Given the description of an element on the screen output the (x, y) to click on. 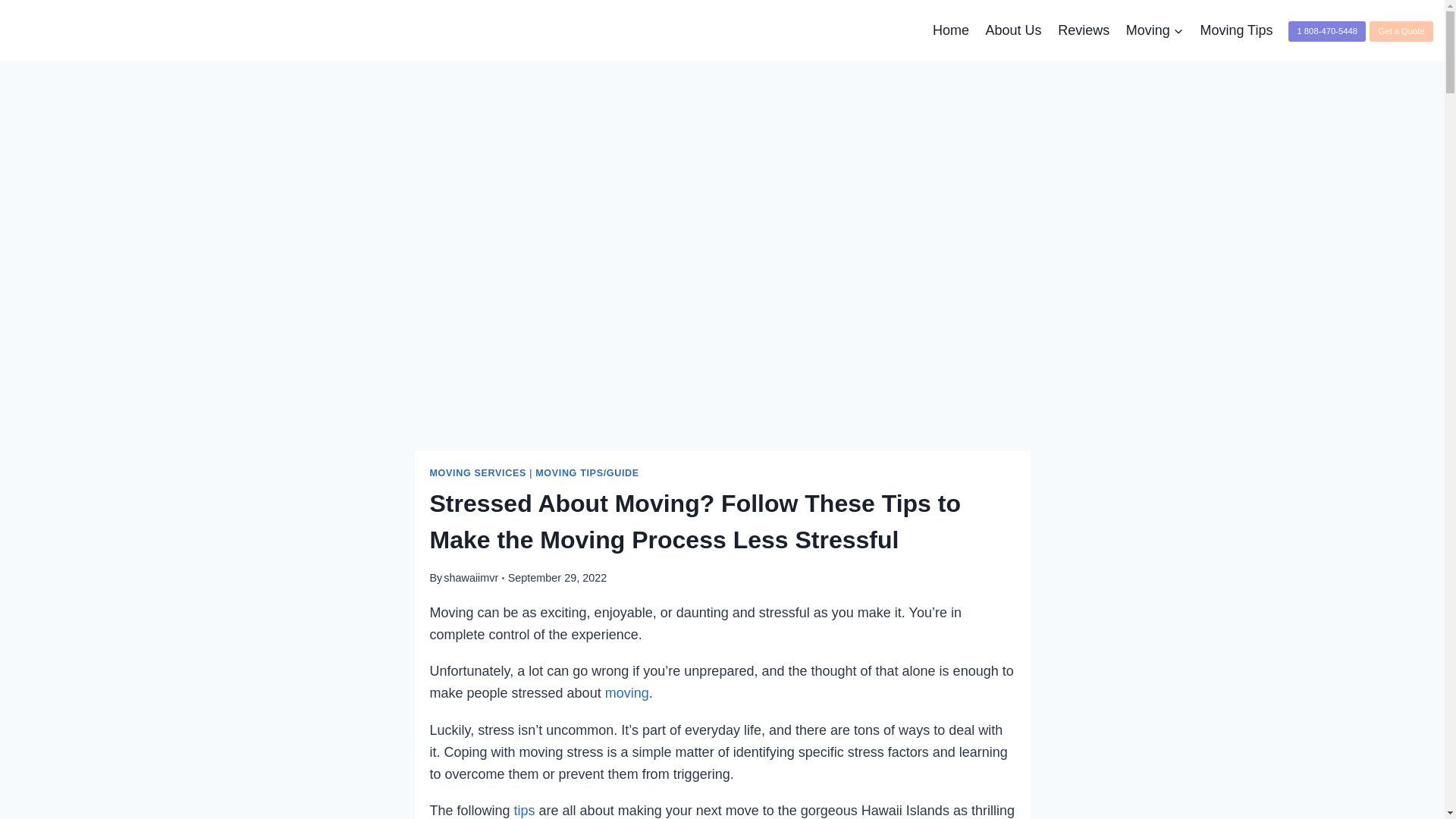
Moving Tips (1236, 30)
Reviews (1083, 30)
1 808-470-5448 (1326, 29)
moving (627, 693)
About Us (1012, 30)
Get a Quote (1401, 31)
MOVING SERVICES (477, 472)
Moving (1155, 30)
Home (950, 30)
1 808-470-5448 (1326, 31)
